Given the description of an element on the screen output the (x, y) to click on. 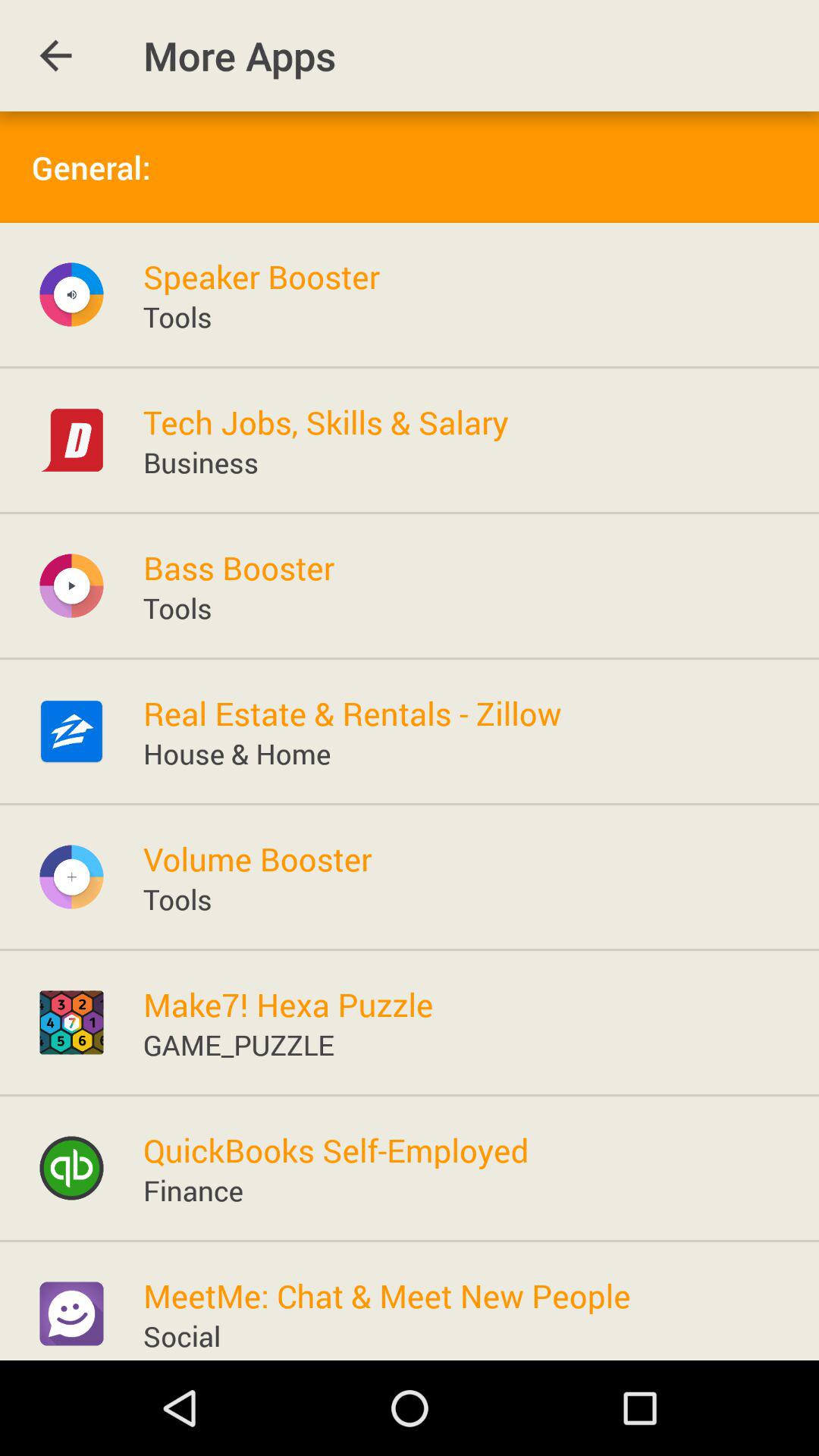
launch the item above business item (325, 421)
